Given the description of an element on the screen output the (x, y) to click on. 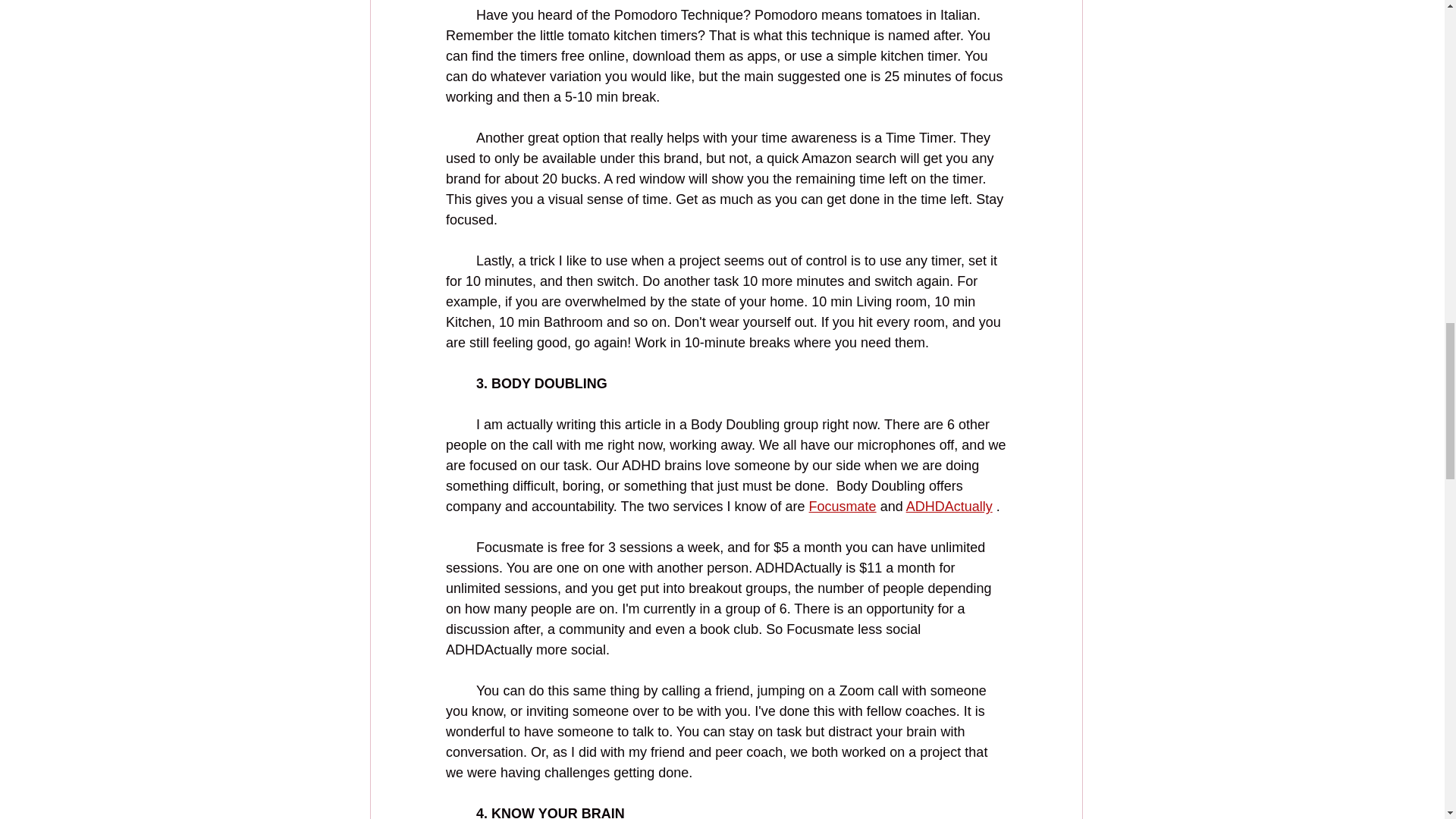
ADHDActually (948, 506)
Focusmate (842, 506)
